Given the description of an element on the screen output the (x, y) to click on. 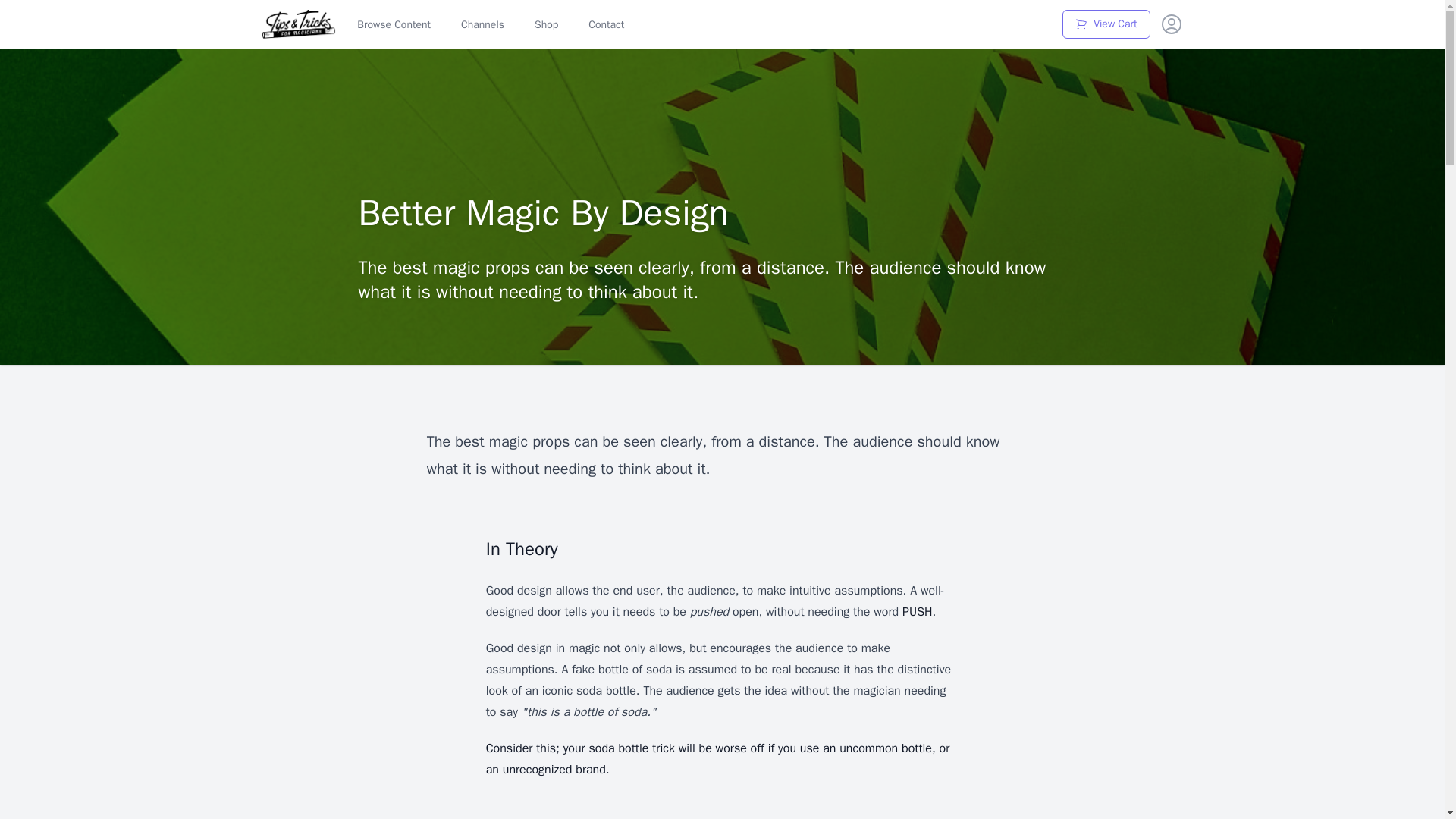
View Cart (1106, 23)
Browse Content (393, 24)
Open user menu (1170, 24)
Channels (482, 24)
